Given the description of an element on the screen output the (x, y) to click on. 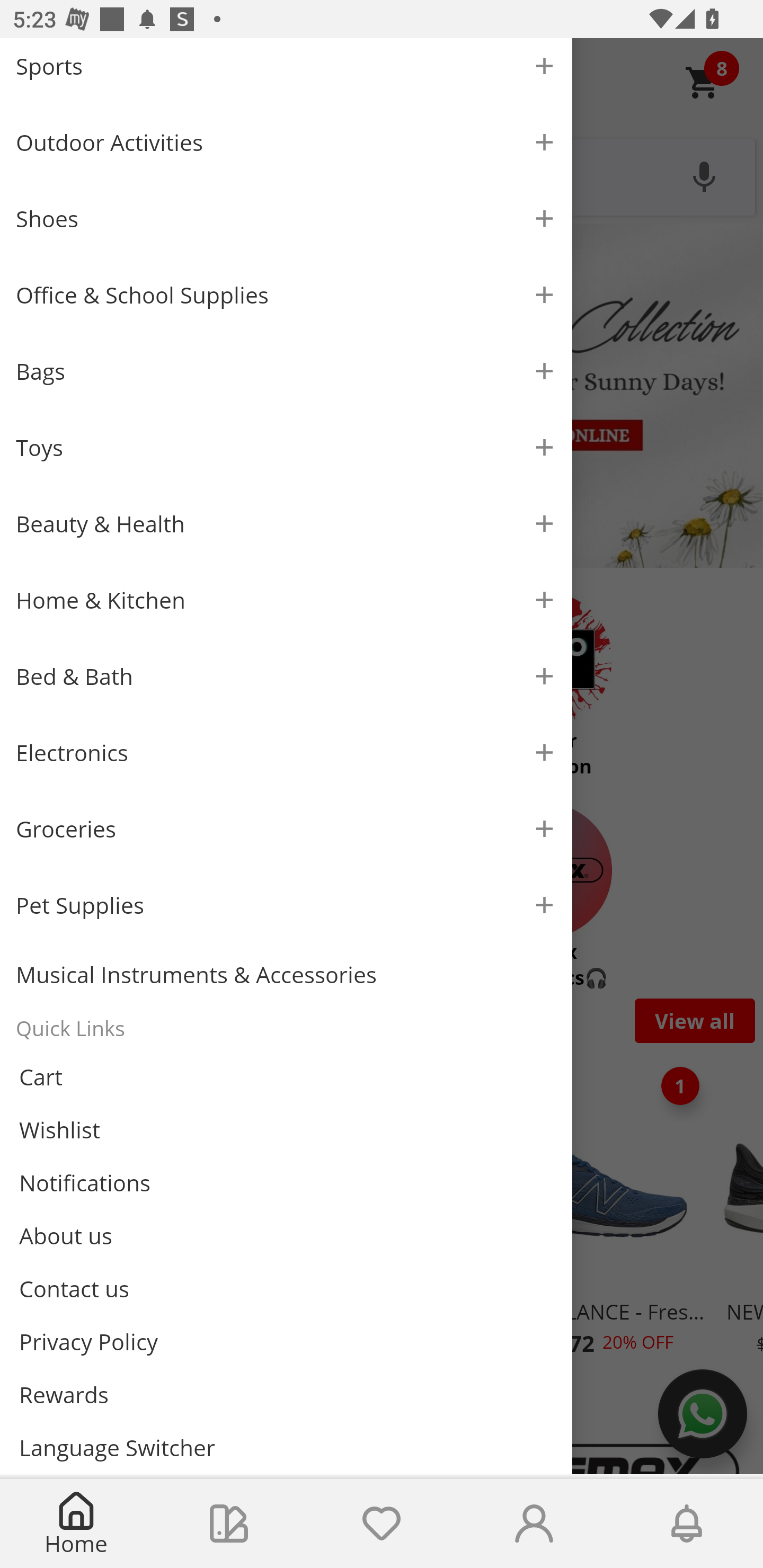
Sports (286, 71)
Outdoor Activities (286, 142)
Shoes (286, 218)
Office & School Supplies (286, 294)
Bags (286, 370)
Toys (286, 447)
Beauty & Health (286, 523)
Home & Kitchen (286, 599)
Bed & Bath (286, 676)
Electronics (286, 752)
Groceries (286, 828)
Pet Supplies (286, 905)
Musical Instruments & Accessories (286, 974)
Cart (286, 1076)
Wishlist (286, 1130)
Notifications (286, 1182)
About us (286, 1235)
Contact us (286, 1288)
Privacy Policy (286, 1341)
Rewards (286, 1394)
Language Switcher (286, 1446)
Collections (228, 1523)
Wishlist (381, 1523)
Account (533, 1523)
Notifications (686, 1523)
